Given the description of an element on the screen output the (x, y) to click on. 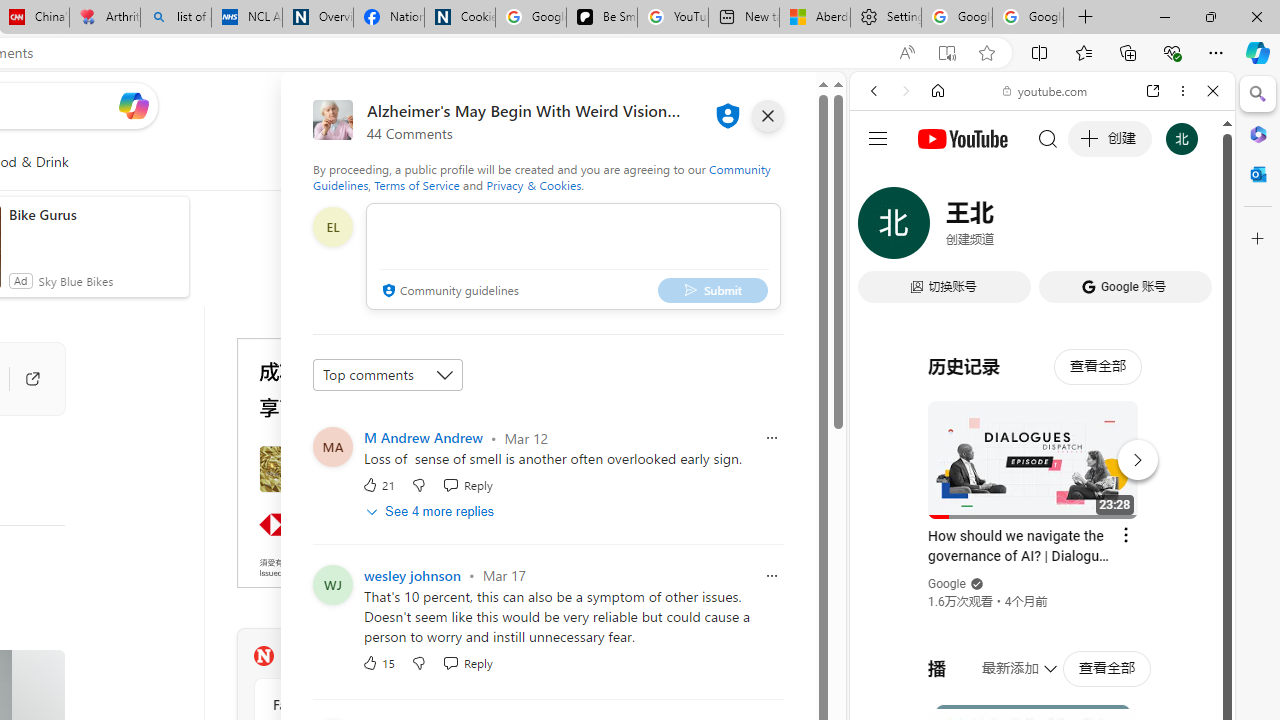
Search videos from youtube.com (1005, 657)
Microsoft 365 (1258, 133)
Trailer #2 [HD] (1042, 594)
Close Outlook pane (1258, 174)
Forward (906, 91)
M Andrew Andrew (422, 437)
Submit (712, 290)
#you (1042, 445)
Open settings (786, 105)
YouTube (1034, 296)
Profile Picture (333, 583)
